Given the description of an element on the screen output the (x, y) to click on. 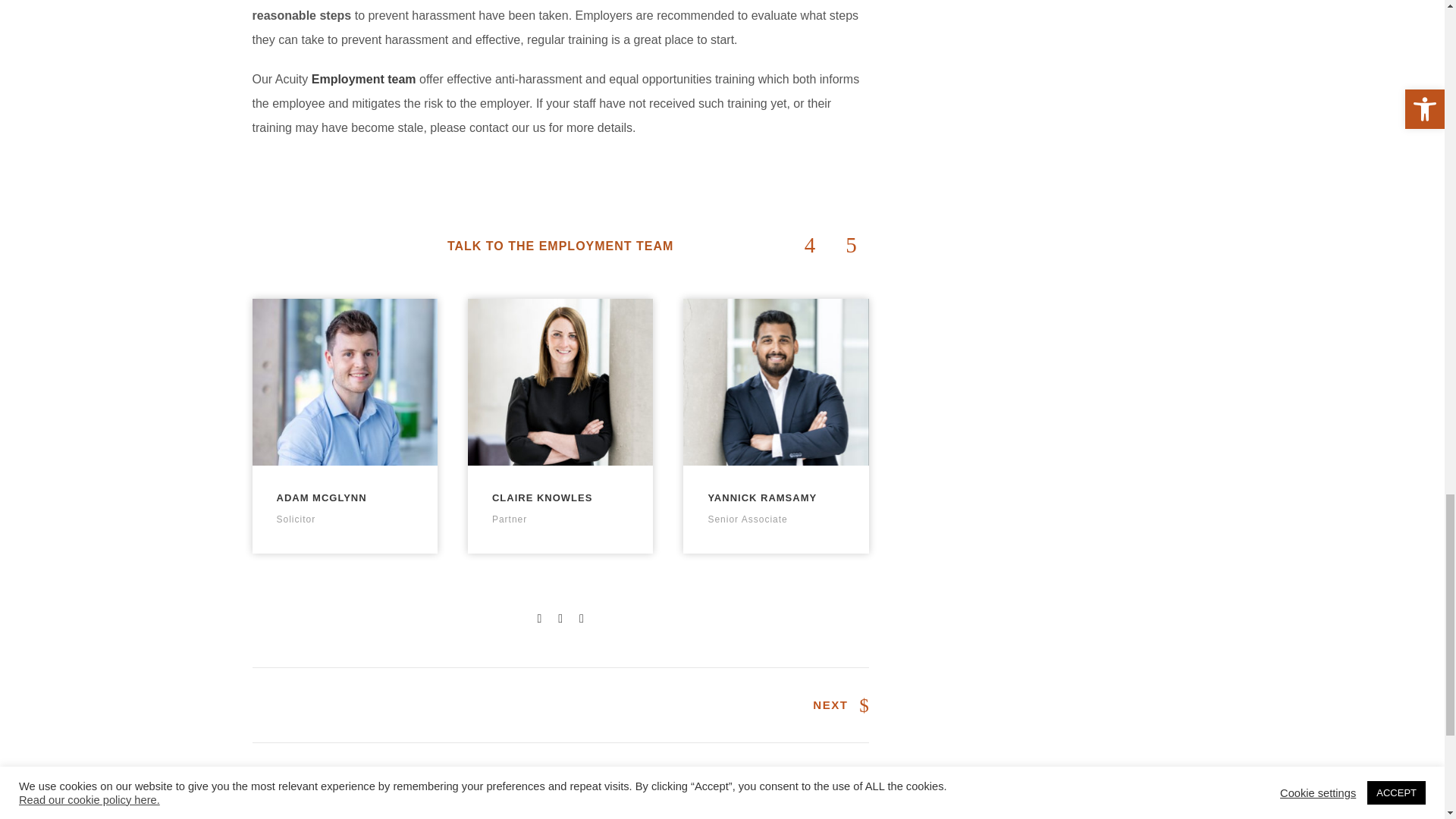
Adam McGlynn (343, 382)
Yannick Ramsamy (774, 382)
Claire Knowles (559, 382)
